Given the description of an element on the screen output the (x, y) to click on. 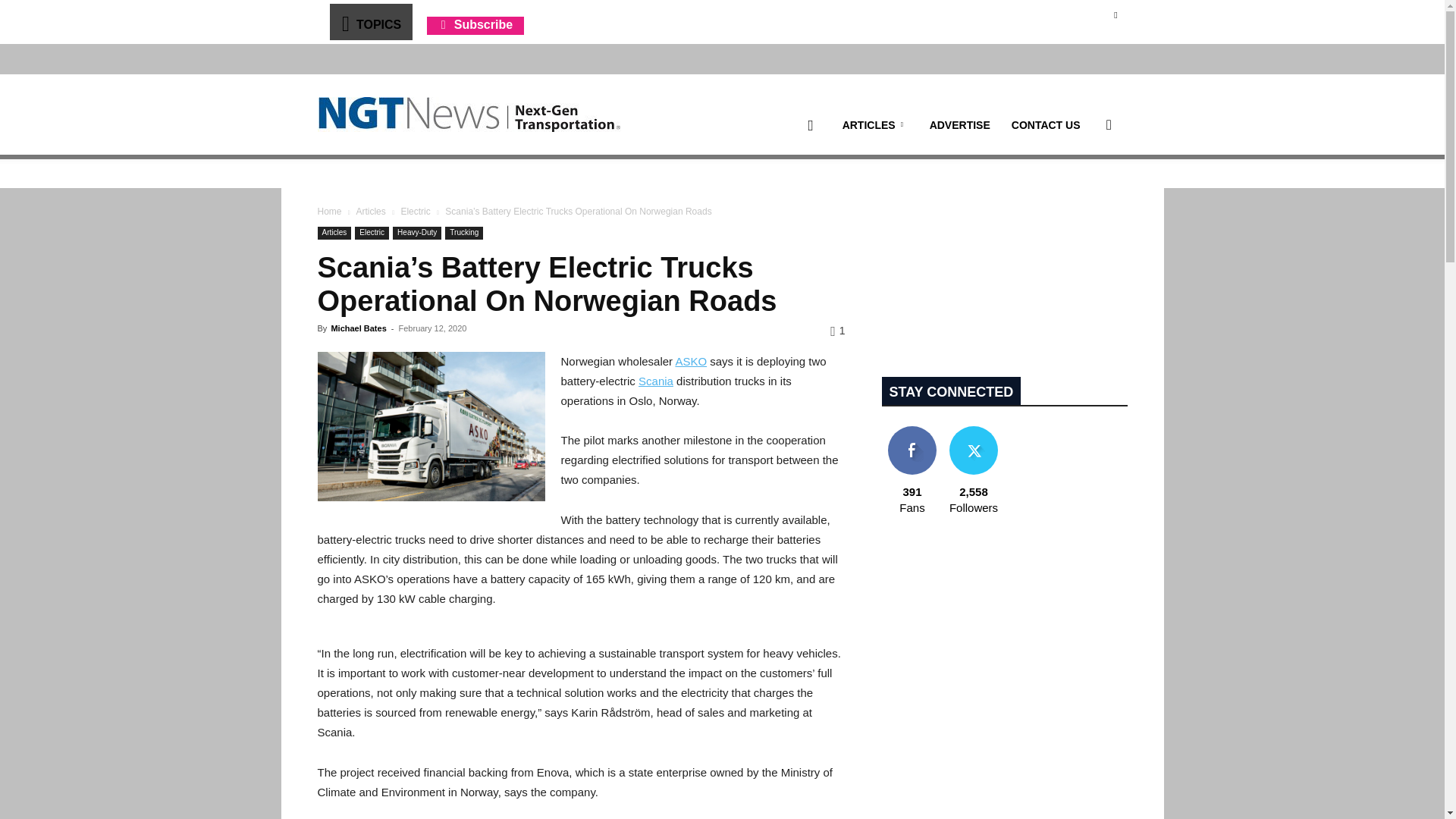
ARTICLES (874, 124)
Twitter (1114, 14)
NGT News (468, 114)
TOPICS (370, 22)
Subscribe (475, 24)
Alternative Fuel News, CNG News (468, 114)
Search (1085, 197)
